Given the description of an element on the screen output the (x, y) to click on. 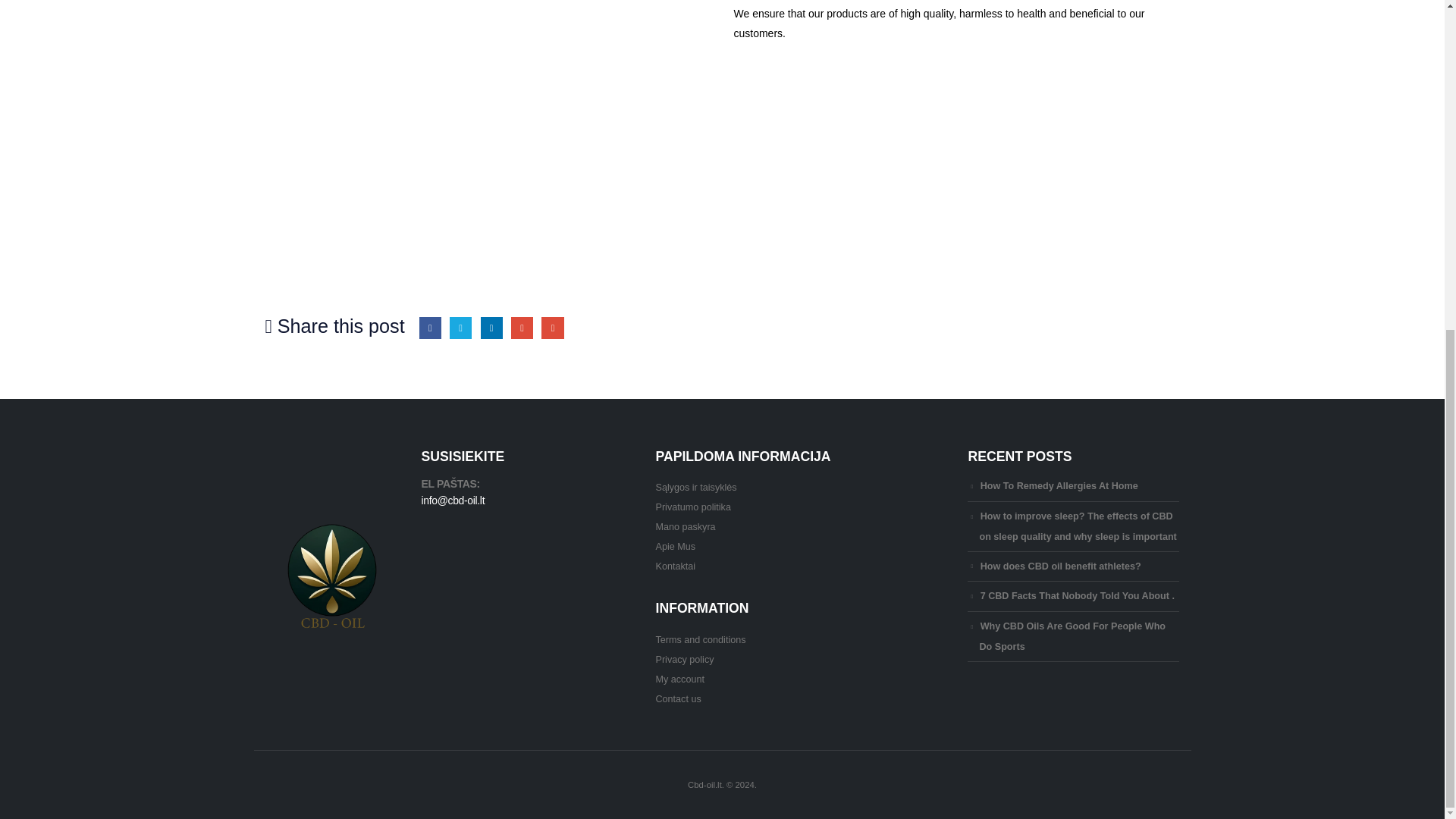
Contact us (677, 698)
My account (679, 679)
Facebook (430, 327)
Email (552, 327)
How does CBD oil benefit athletes? (1060, 566)
How To Remedy Allergies At Home (1058, 485)
Twitter (460, 327)
Email (552, 327)
Kontaktai (675, 566)
